Given the description of an element on the screen output the (x, y) to click on. 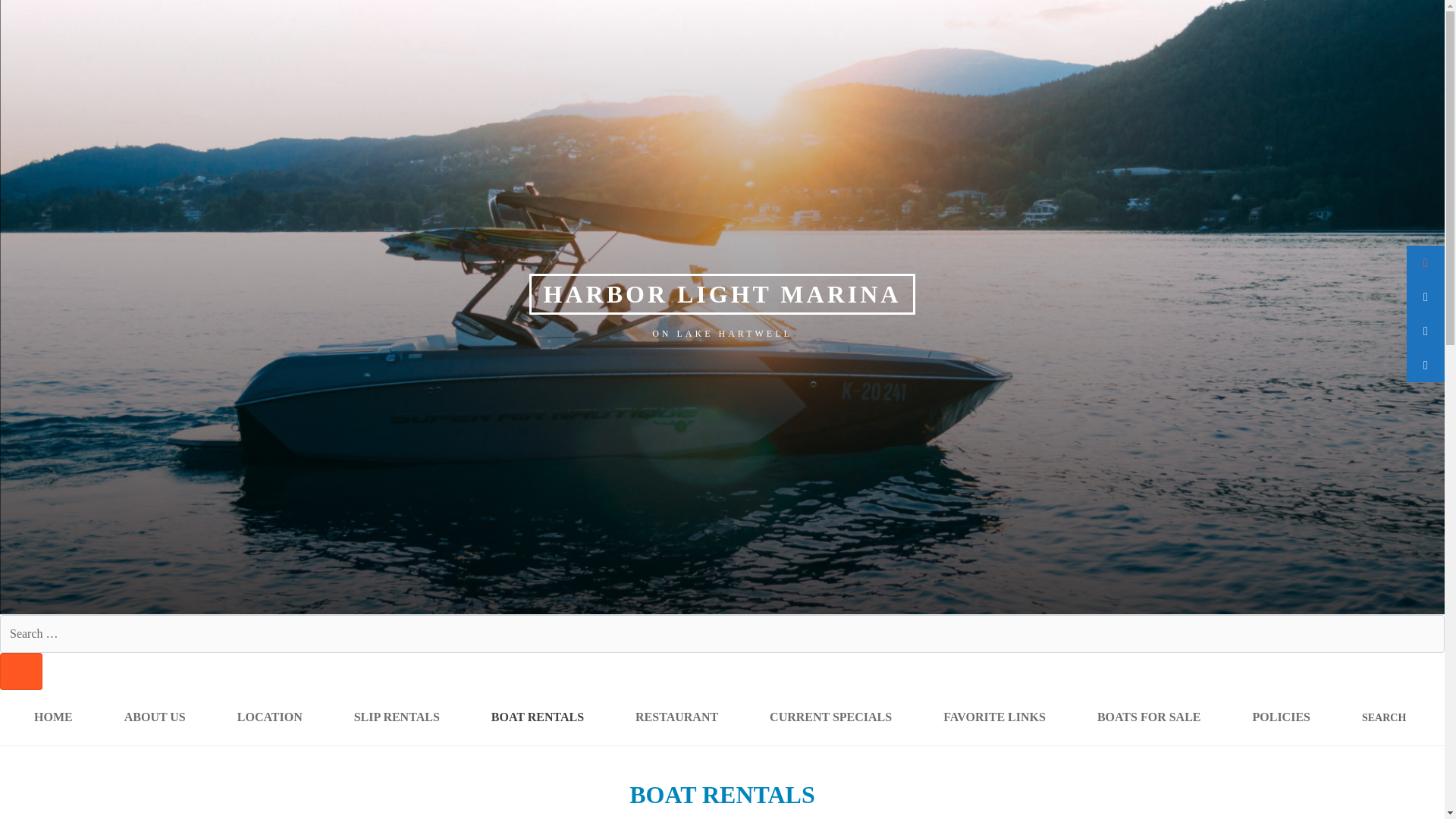
CURRENT SPECIALS (830, 717)
SLIP RENTALS (397, 717)
LOCATION (269, 717)
SEARCH (21, 671)
BOAT RENTALS (537, 717)
ABOUT US (154, 717)
FAVORITE LINKS (994, 717)
POLICIES (1281, 717)
RESTAURANT (676, 717)
HARBOR LIGHT MARINA (722, 293)
